Given the description of an element on the screen output the (x, y) to click on. 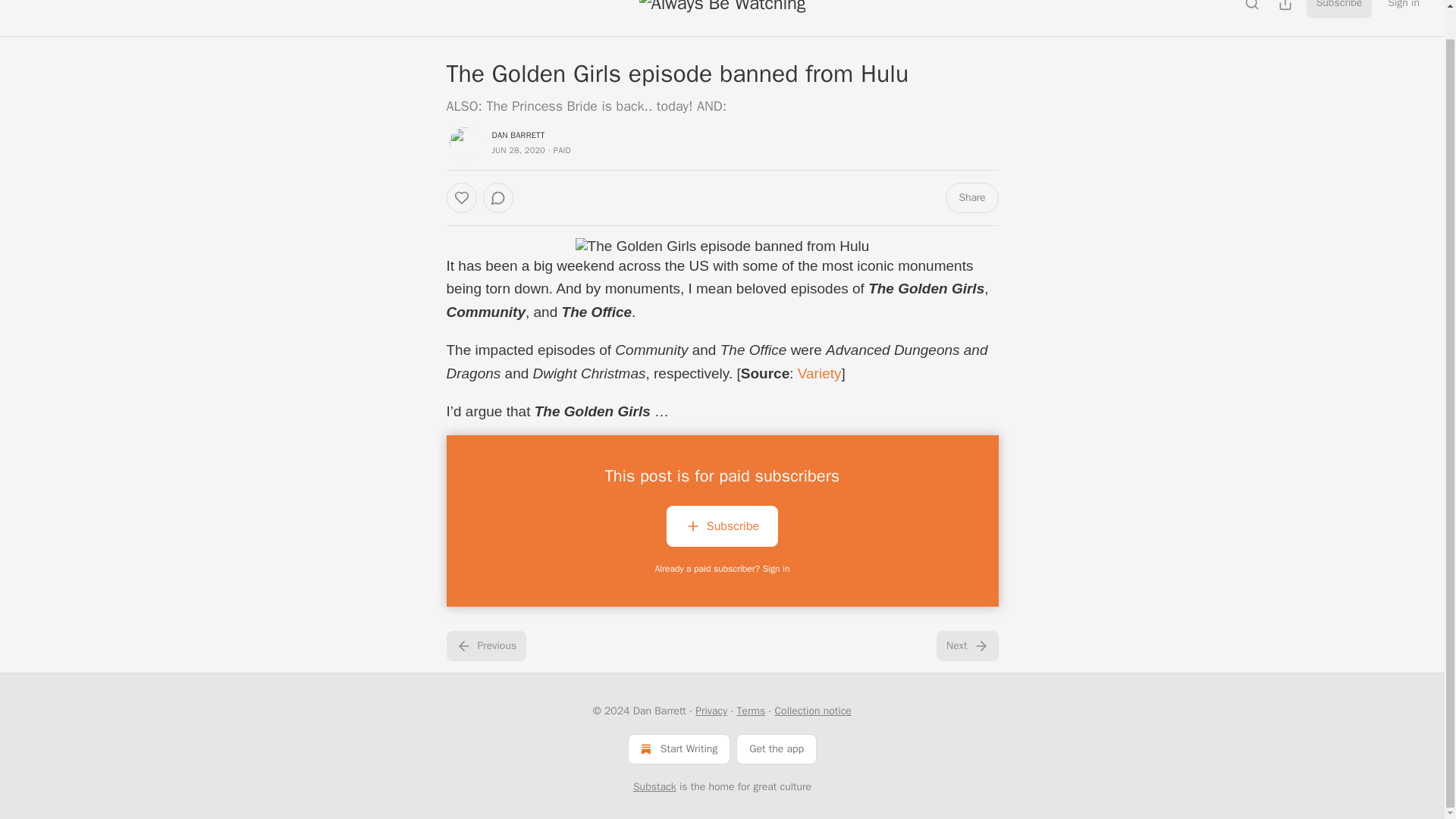
Collection notice (812, 710)
Get the app (776, 748)
Subscribe (1339, 9)
Privacy (710, 710)
Previous (485, 645)
Next (966, 645)
Subscribe (721, 526)
Start Writing (678, 748)
Terms (750, 710)
Variety (819, 373)
